Given the description of an element on the screen output the (x, y) to click on. 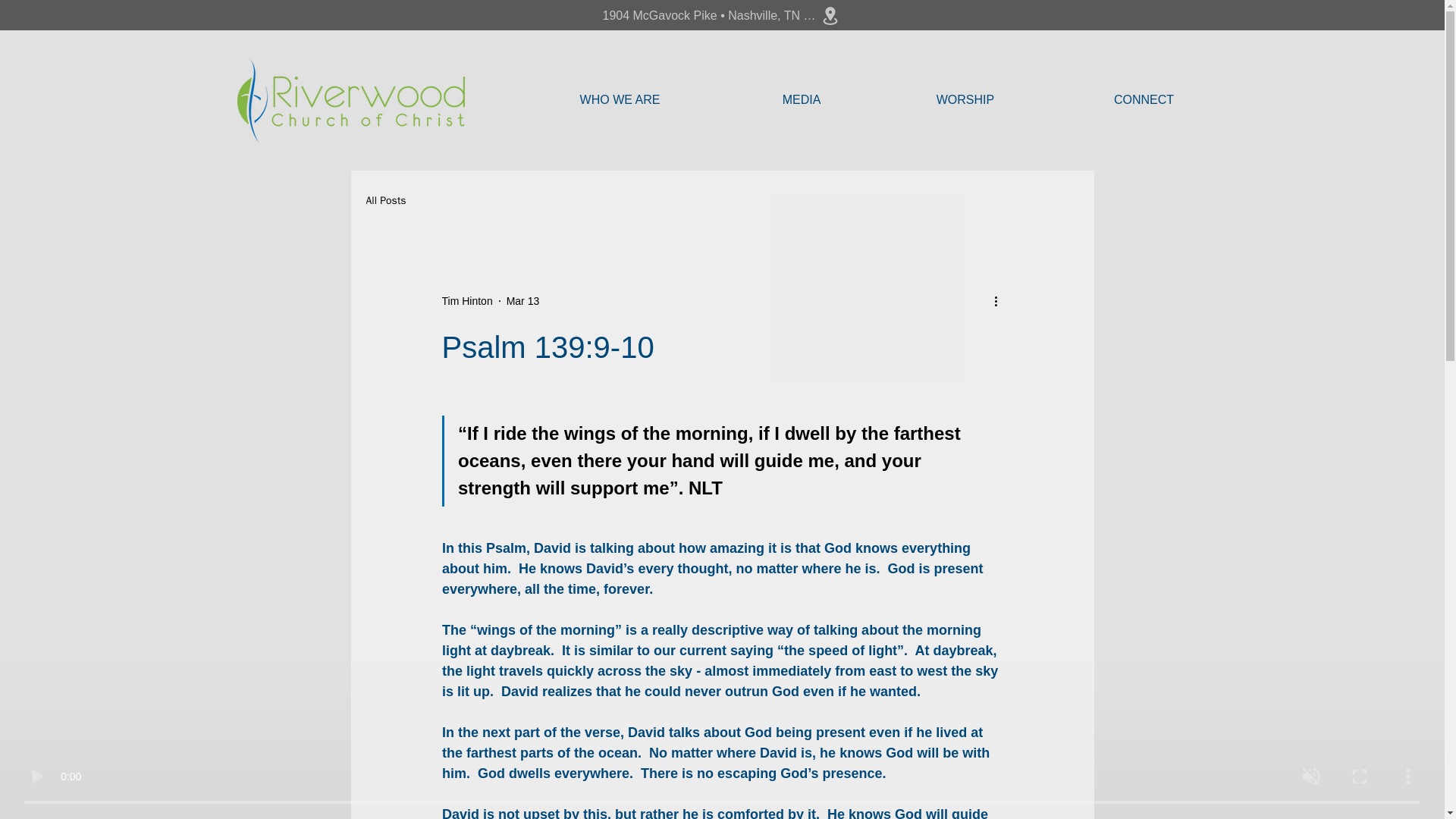
All Posts (385, 201)
Tim Hinton (466, 300)
Tim Hinton (466, 300)
Mar 13 (523, 300)
Logo3b.png (349, 99)
